Given the description of an element on the screen output the (x, y) to click on. 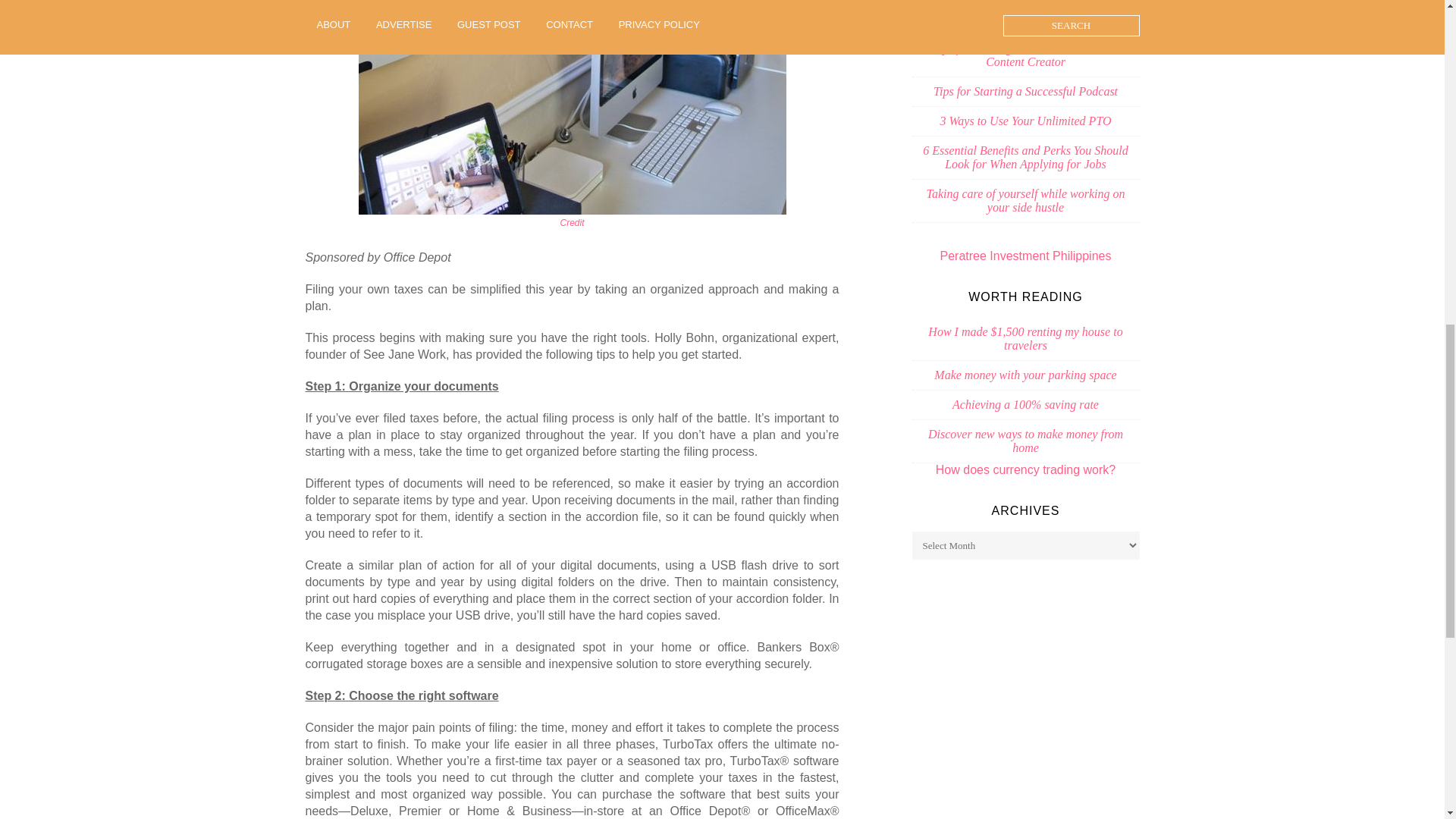
Peratree Investment Philippines (1026, 255)
Make money with your parking space (1025, 374)
Pinterest (571, 222)
How does currency trading work? (1025, 469)
Taking care of yourself while working on your side hustle (1025, 200)
Credit (571, 222)
Tips for Starting a Successful Podcast (1025, 91)
Discover new ways to make money from home (1025, 440)
3 Tips for Finding Success as a Freelance Content Creator (1024, 54)
